Given the description of an element on the screen output the (x, y) to click on. 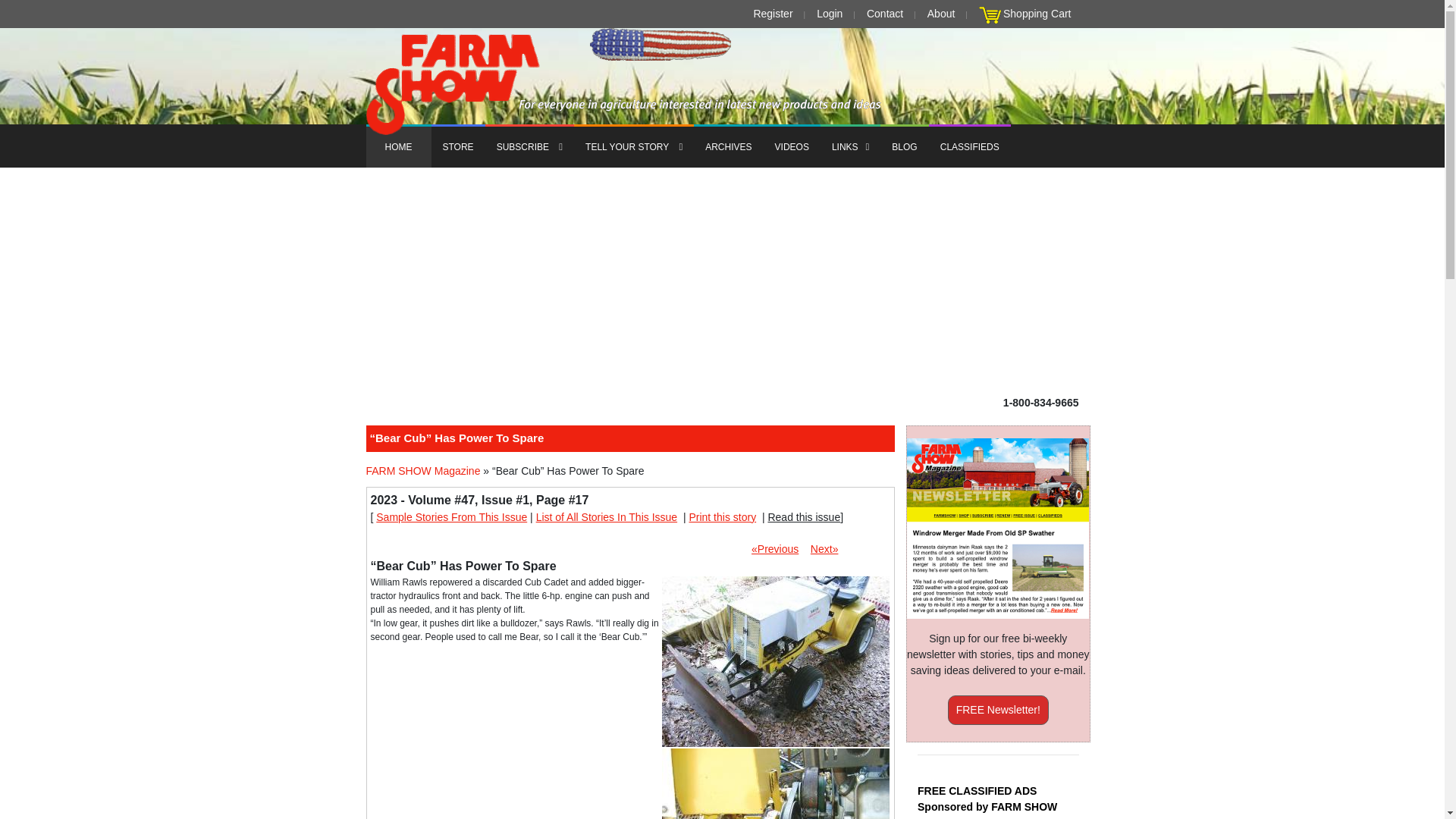
SUBSCRIBE (528, 145)
Shopping Cart (1037, 13)
FARM SHOW Magazine (422, 471)
LINKS (850, 145)
VIDEOS (791, 145)
ARCHIVES (728, 145)
About (941, 13)
TELL YOUR STORY (633, 145)
Click to View Your Shopping Cart (989, 14)
About FARM SHOW (941, 13)
CONTACT FARM SHOW (884, 13)
